Given the description of an element on the screen output the (x, y) to click on. 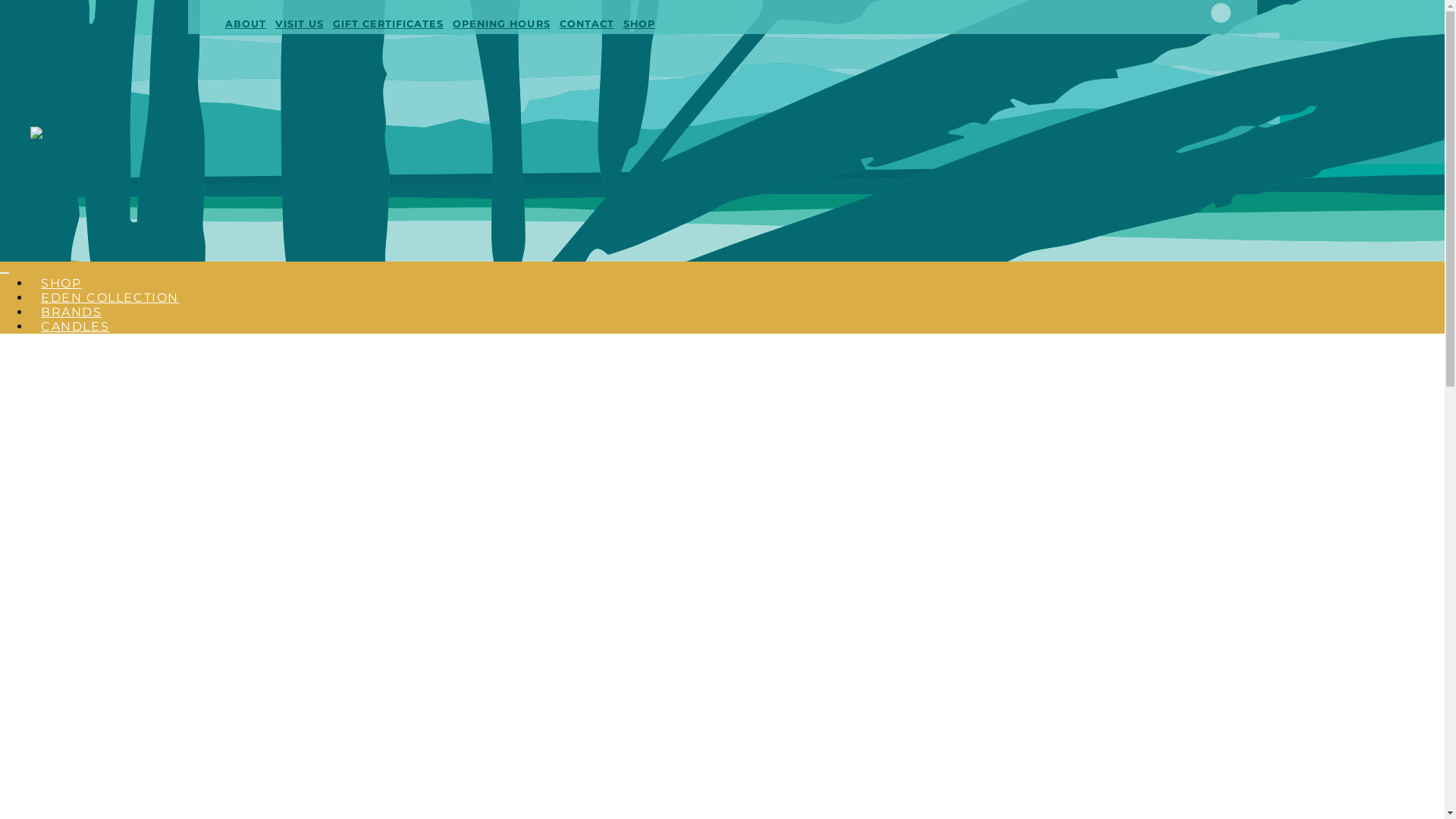
SHOP Element type: text (60, 283)
VISIT US Element type: text (299, 23)
EDEN COLLECTION Element type: text (109, 297)
CANDLES Element type: text (74, 326)
CONTACT Element type: text (586, 23)
SHOP Element type: text (639, 23)
GIFT CERTIFICATES Element type: text (387, 23)
ABOUT Element type: text (244, 23)
BRANDS Element type: text (71, 311)
OPENING HOURS Element type: text (500, 23)
